Given the description of an element on the screen output the (x, y) to click on. 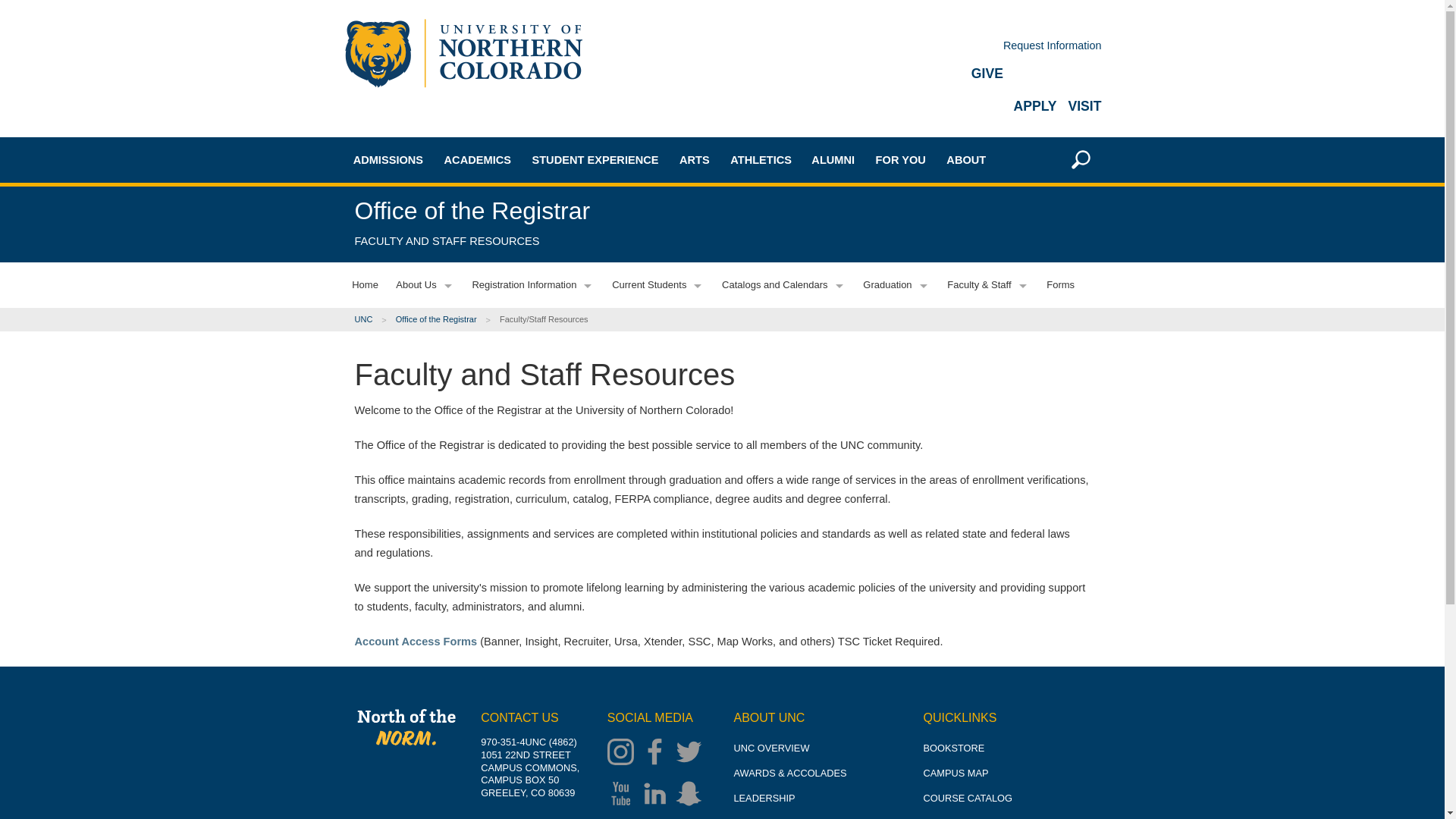
Request Information (1052, 45)
Search (1067, 370)
ADMISSIONS (387, 159)
Schedule of Classes (509, 366)
Instagram (624, 753)
Academic Overview (509, 207)
APPLY (1035, 105)
Costs (418, 382)
Extended Campus (418, 334)
VISIT (1083, 105)
Visit Campus (418, 456)
Catalog (509, 339)
Graduate Programs (509, 260)
Facebook (658, 753)
Education Abroad (509, 313)
